Given the description of an element on the screen output the (x, y) to click on. 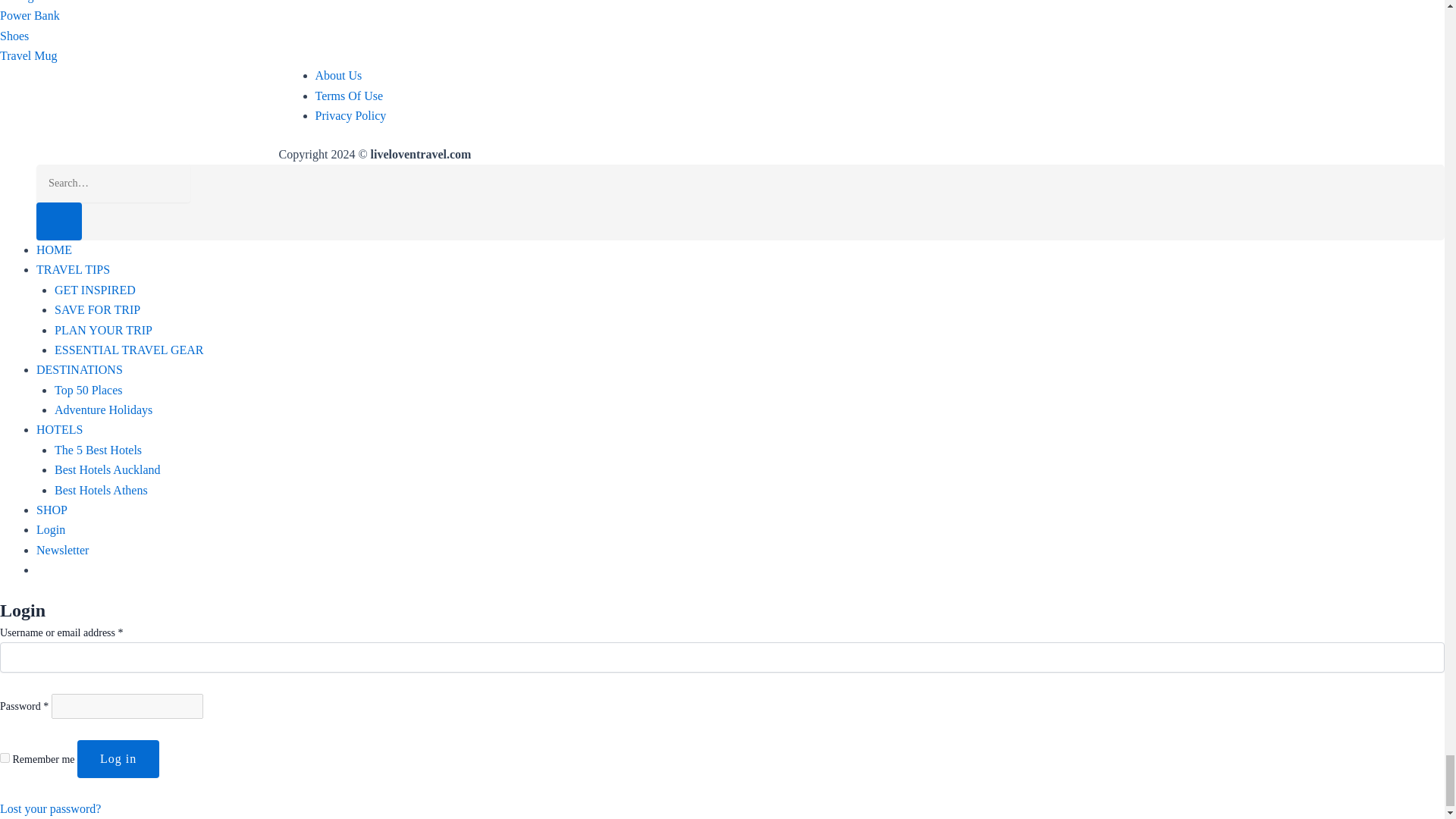
forever (5, 757)
